Given the description of an element on the screen output the (x, y) to click on. 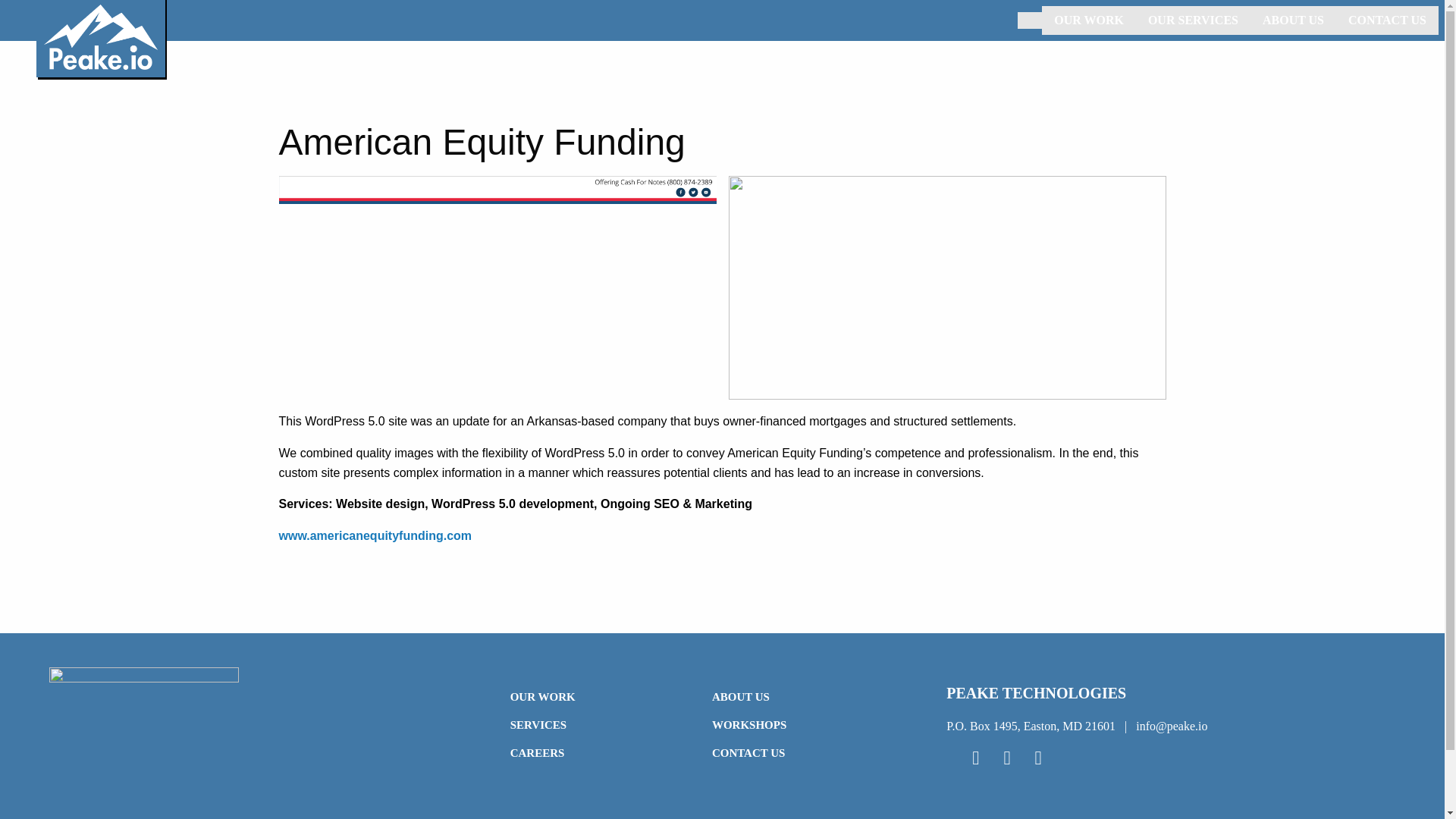
CONTACT US (800, 753)
www.americanequityfunding.com (375, 535)
ABOUT US (800, 696)
OUR SERVICES (1192, 20)
CAREERS (598, 753)
WORKSHOPS (800, 725)
SERVICES (598, 725)
OUR WORK (1088, 20)
OUR WORK (598, 696)
ABOUT US (1293, 20)
